Given the description of an element on the screen output the (x, y) to click on. 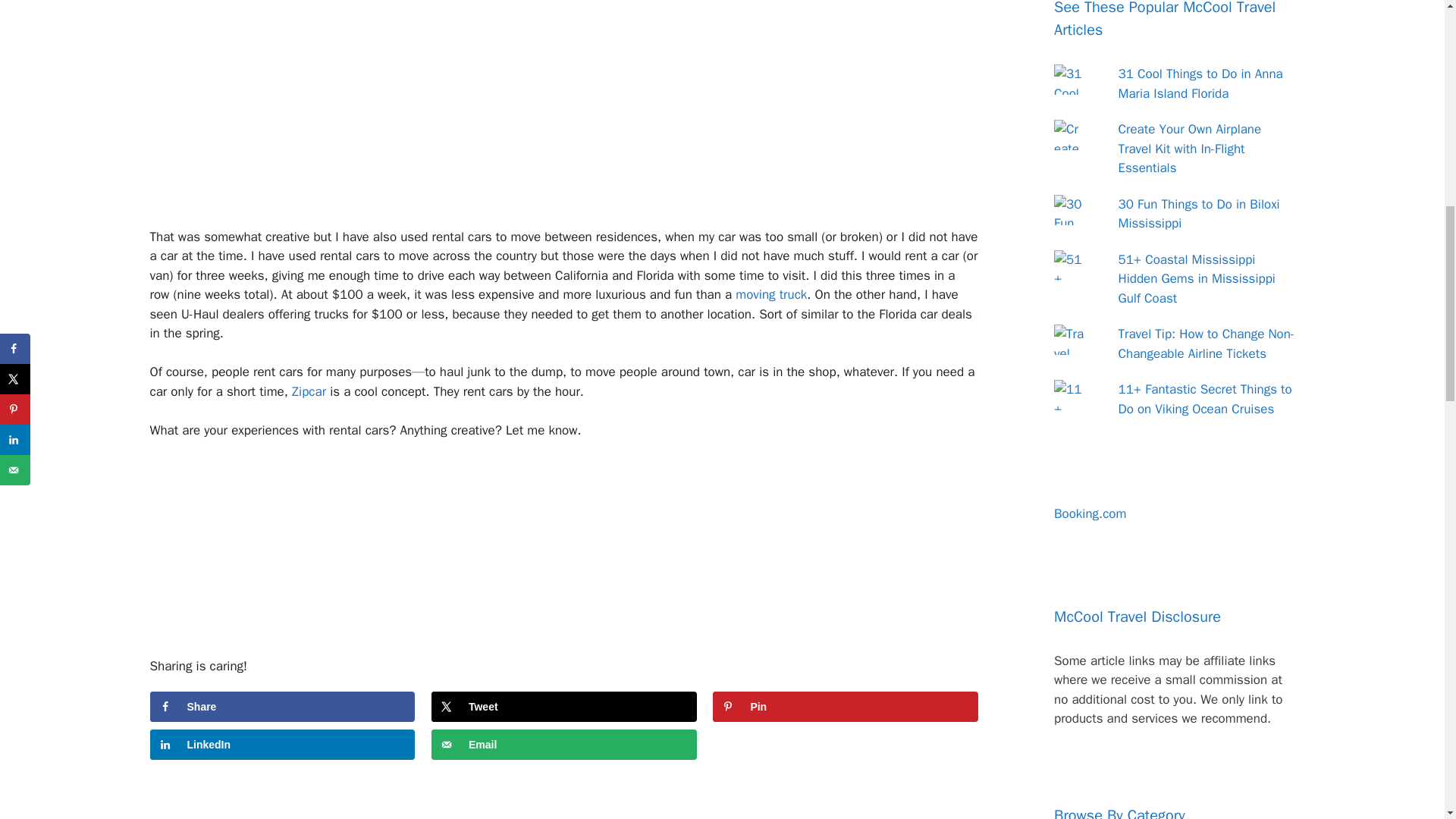
Save to Pinterest (845, 706)
Share on X (563, 706)
30 Fun Things to Do in Biloxi Mississippi (1198, 213)
Share on Facebook (281, 706)
Share on LinkedIn (281, 744)
Send over email (563, 744)
31 Cool Things to Do in Anna Maria Island Florida (1200, 83)
